Given the description of an element on the screen output the (x, y) to click on. 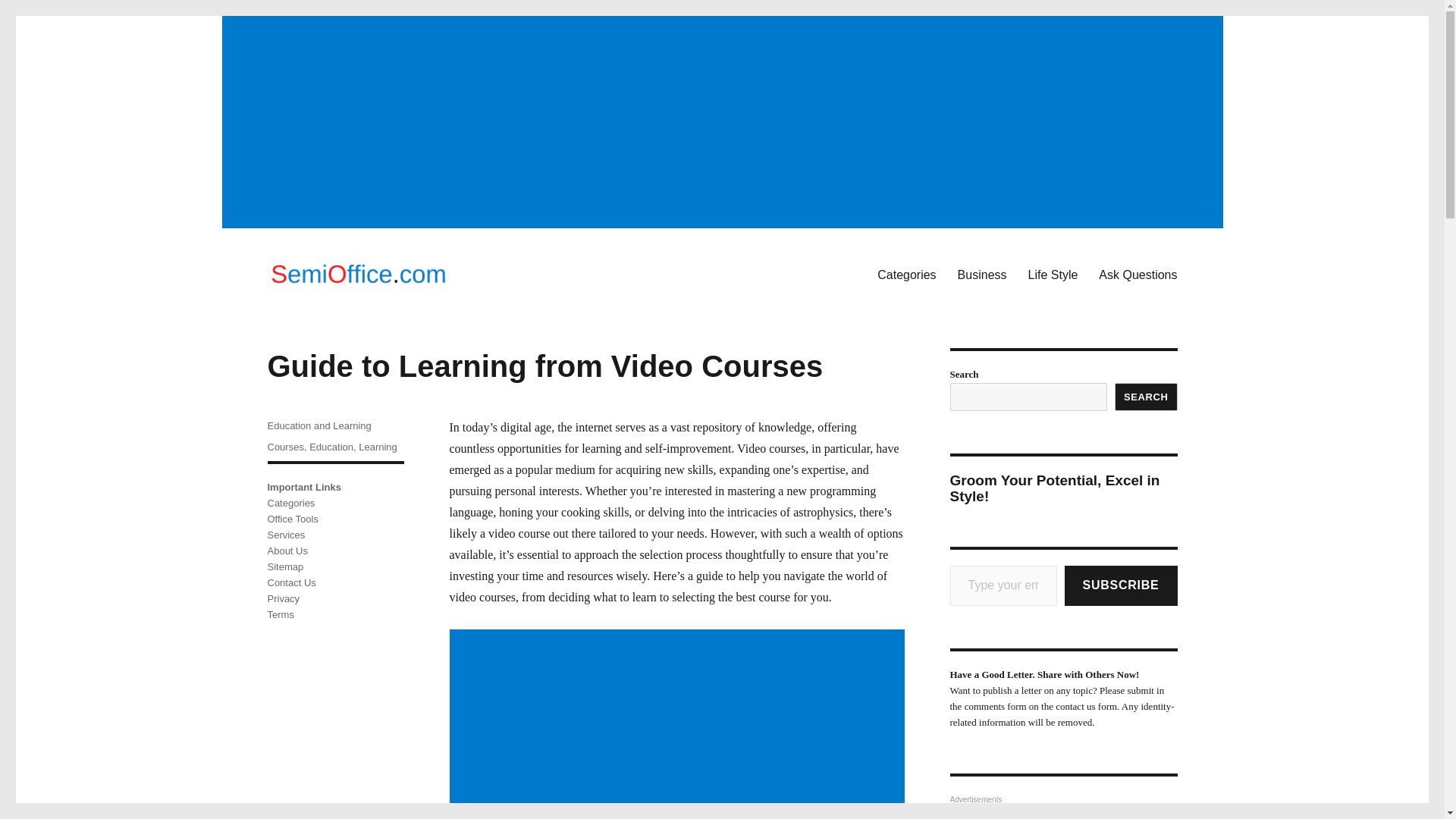
SUBSCRIBE (1120, 585)
Office Tools (291, 518)
SemiOffice.Com (348, 310)
Learning (377, 446)
SEARCH (1146, 397)
Categories (290, 502)
Courses (284, 446)
Sitemap (284, 566)
Education and Learning (318, 425)
Life Style (1053, 274)
Services (285, 534)
About Us (286, 550)
Education (330, 446)
Terms (280, 614)
Business (982, 274)
